Given the description of an element on the screen output the (x, y) to click on. 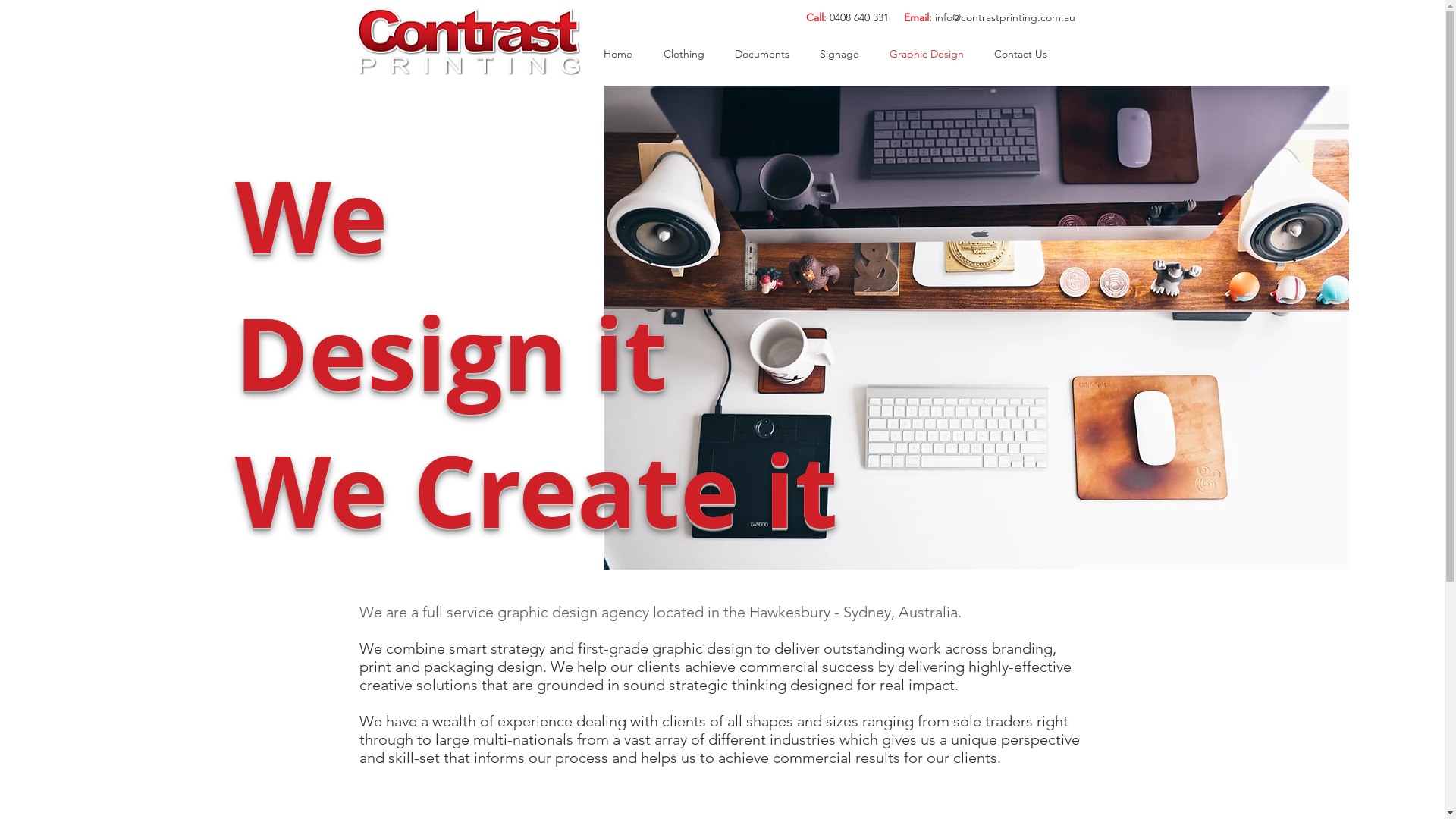
Documents Element type: text (760, 53)
Clothing Element type: text (682, 53)
Graphic Design Element type: text (925, 53)
info@contrastprinting.com.au Element type: text (1004, 17)
Signage Element type: text (838, 53)
Contact Us Element type: text (1019, 53)
Home Element type: text (618, 53)
real impact. Element type: text (918, 684)
